Given the description of an element on the screen output the (x, y) to click on. 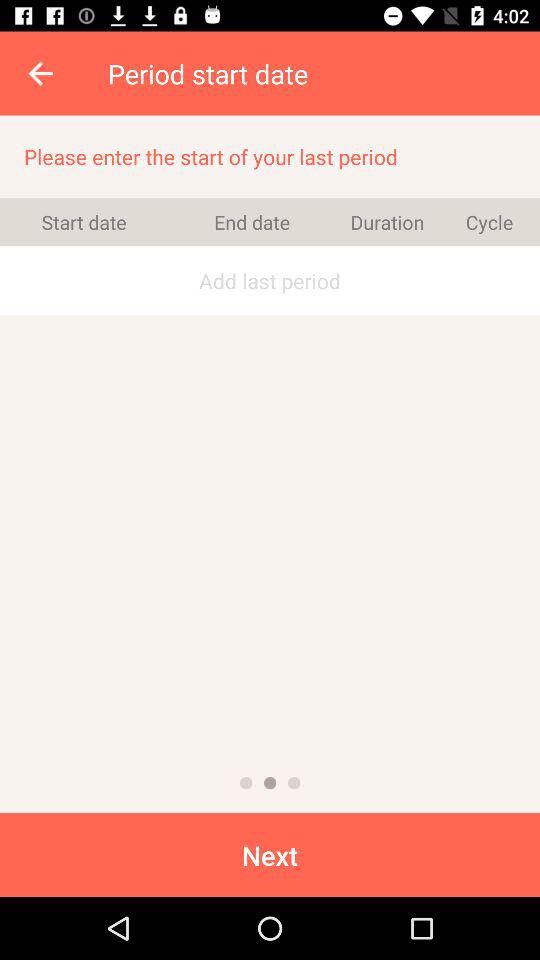
show middle slide (270, 783)
